Given the description of an element on the screen output the (x, y) to click on. 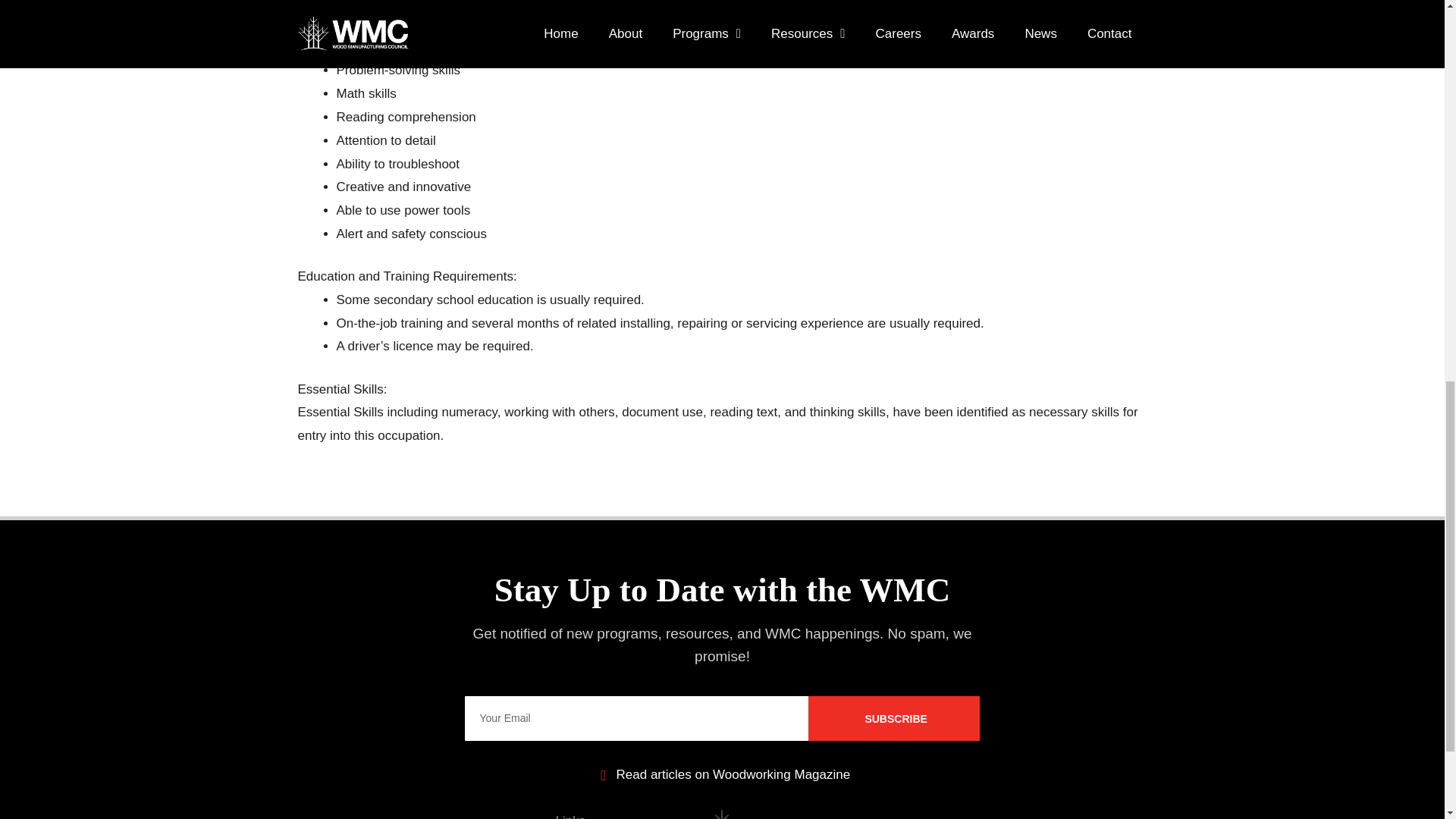
footer-logo (722, 814)
